Given the description of an element on the screen output the (x, y) to click on. 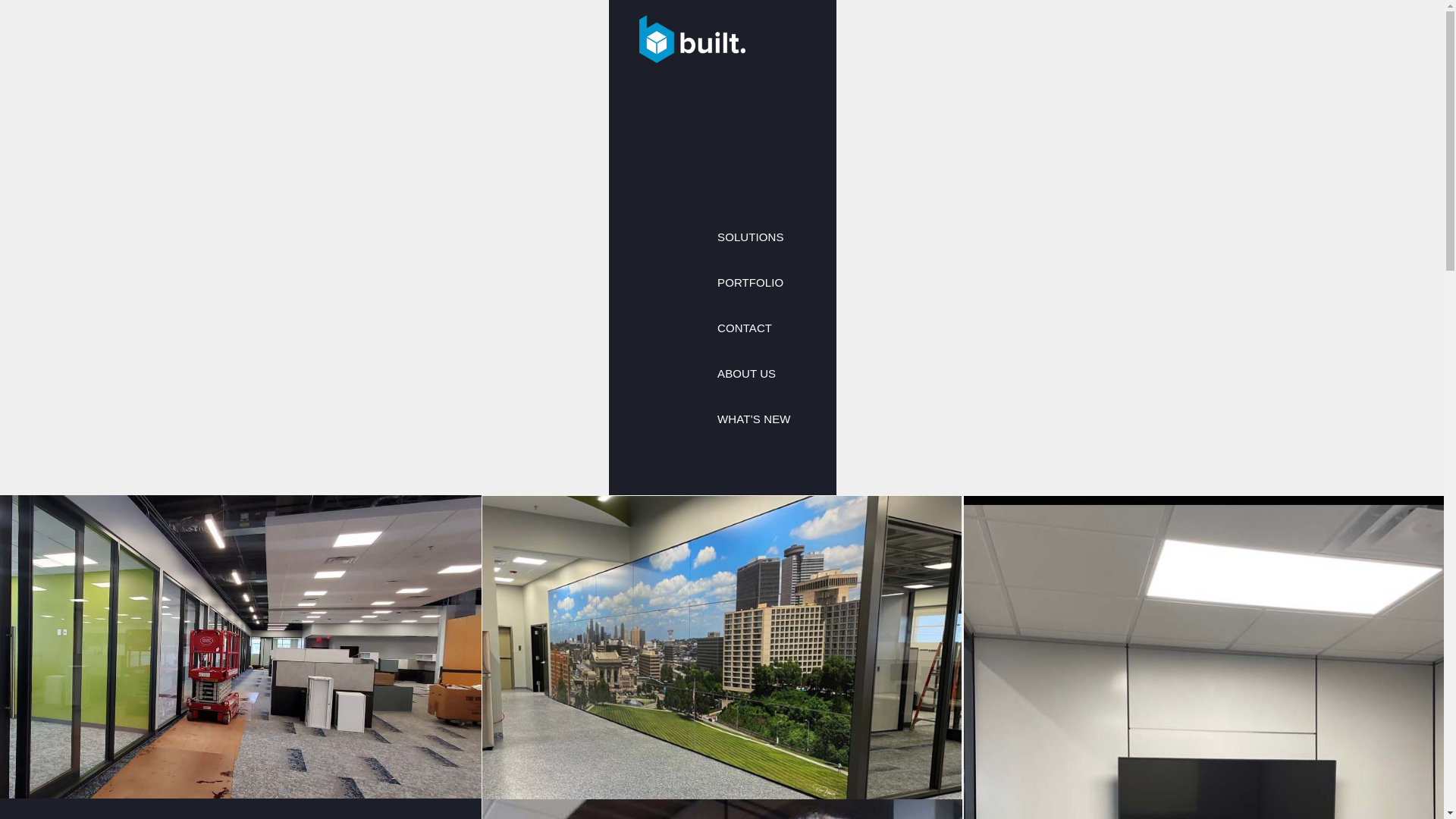
PORTFOLIO (753, 281)
SOLUTIONS (753, 236)
CONTACT (753, 327)
ABOUT US (753, 372)
